Given the description of an element on the screen output the (x, y) to click on. 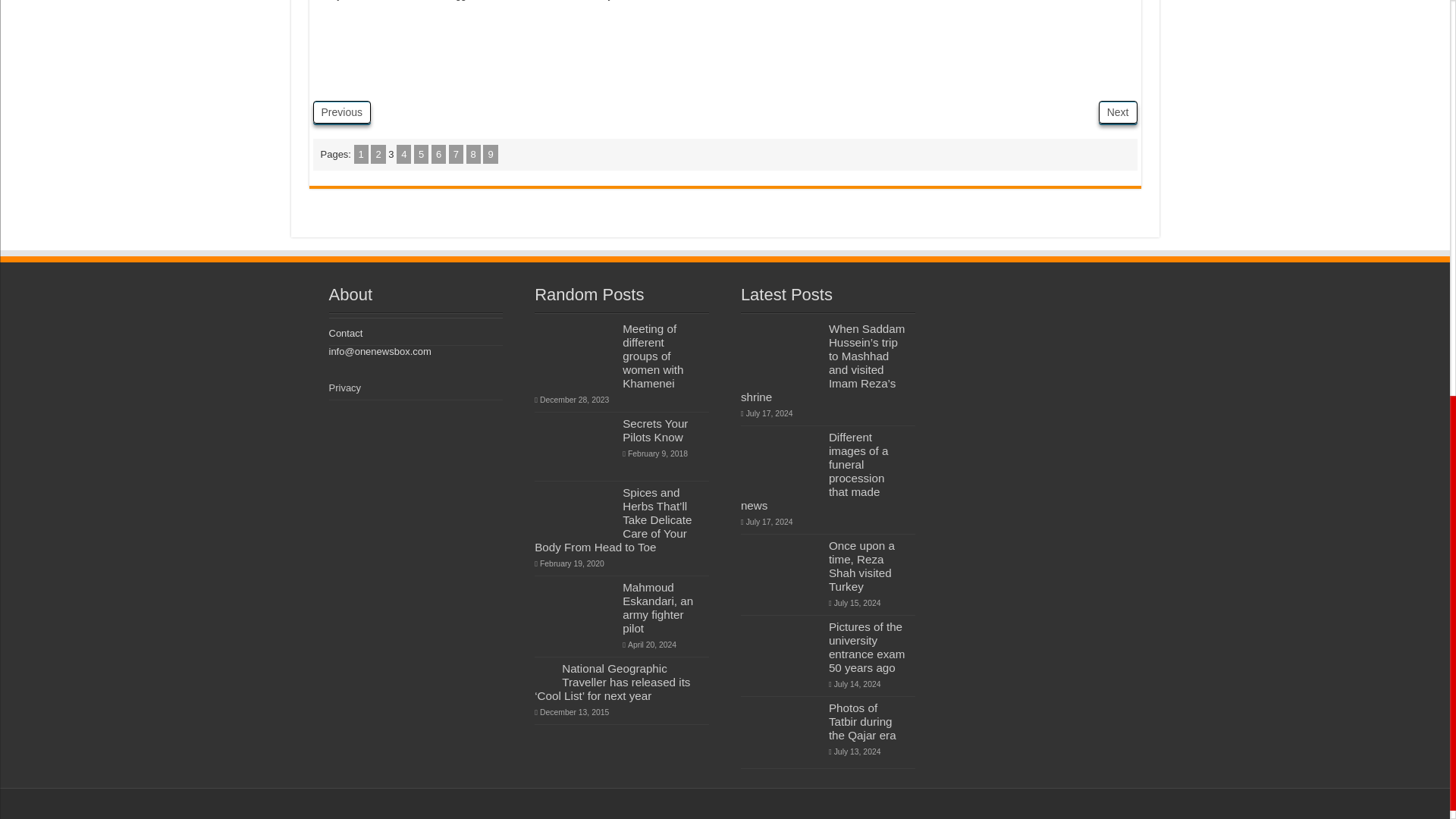
Secrets Your Pilots Know (655, 429)
Meeting of different groups of women with Khamenei (652, 355)
Next (1118, 111)
Privacy (345, 387)
Previous (341, 111)
Scroll To Top (1427, 97)
